Given the description of an element on the screen output the (x, y) to click on. 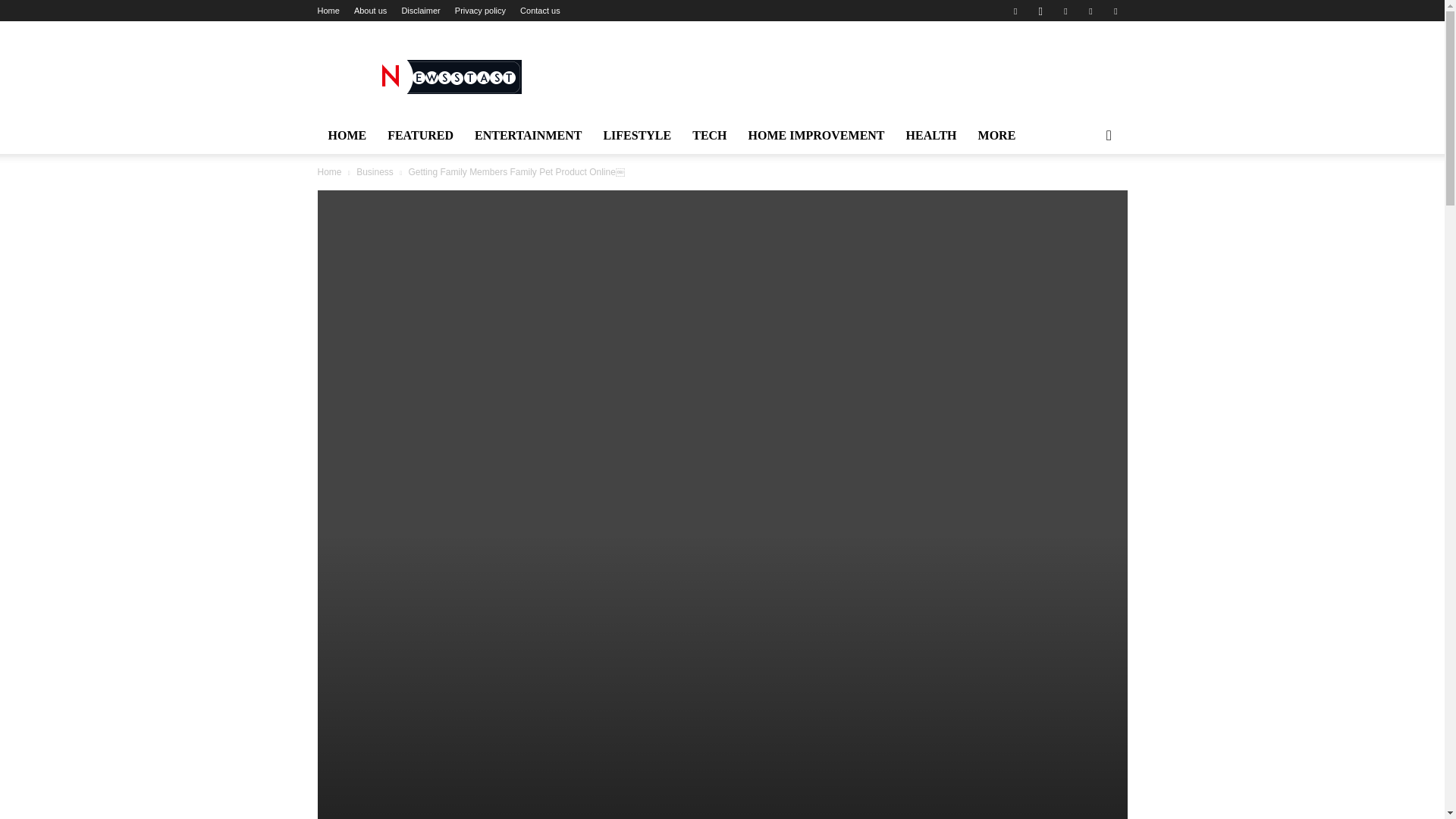
View all posts in Business (374, 172)
Vimeo (1090, 10)
Privacy policy (479, 10)
Youtube (1114, 10)
Twitter (1065, 10)
Disclaimer (420, 10)
Contact us (539, 10)
About us (370, 10)
Home (328, 10)
Facebook (1015, 10)
